Given the description of an element on the screen output the (x, y) to click on. 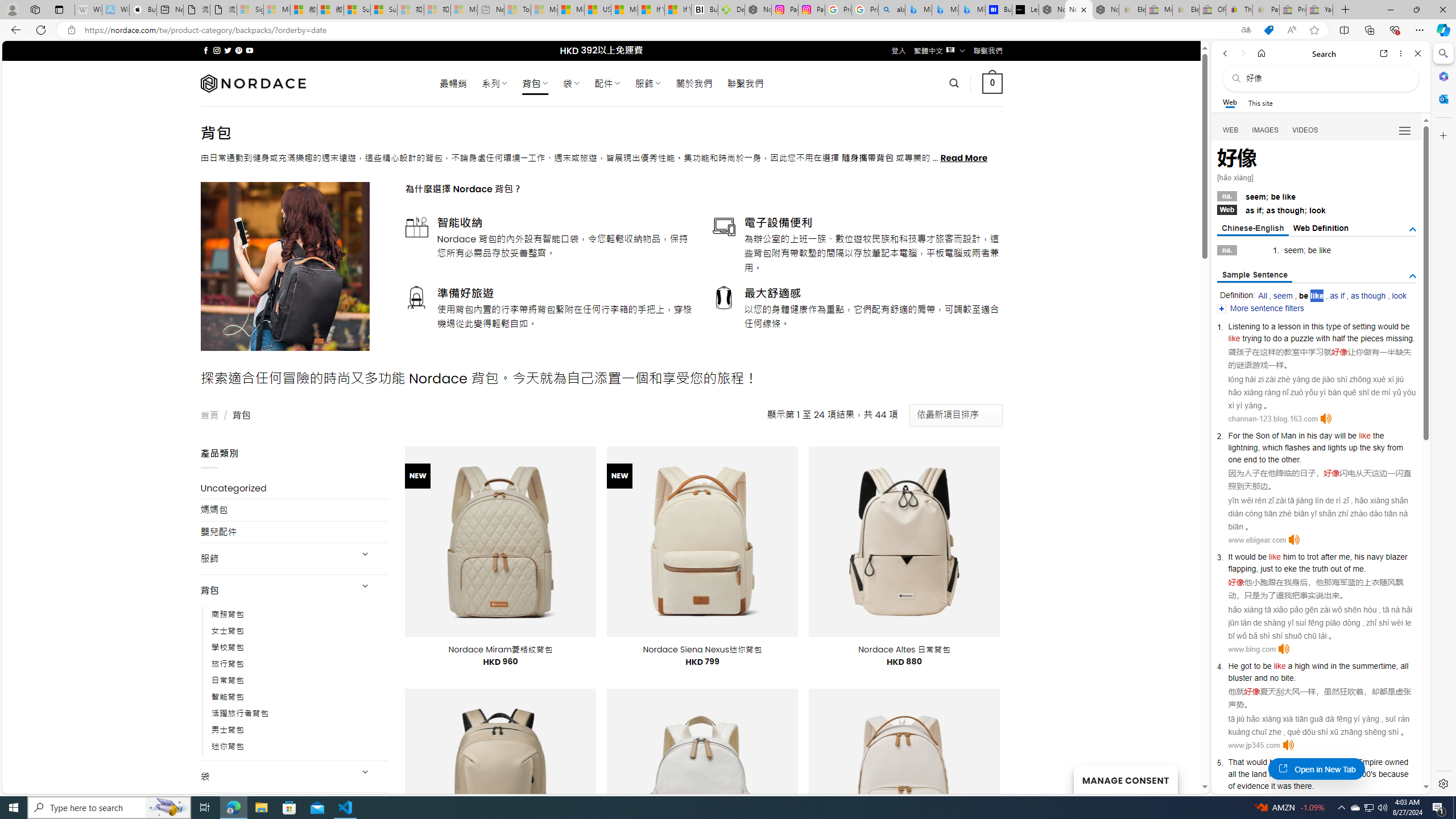
the (1304, 568)
Follow on Twitter (227, 50)
Follow on YouTube (249, 50)
Microsoft Services Agreement - Sleeping (277, 9)
www.jp345.com (1253, 745)
